Given the description of an element on the screen output the (x, y) to click on. 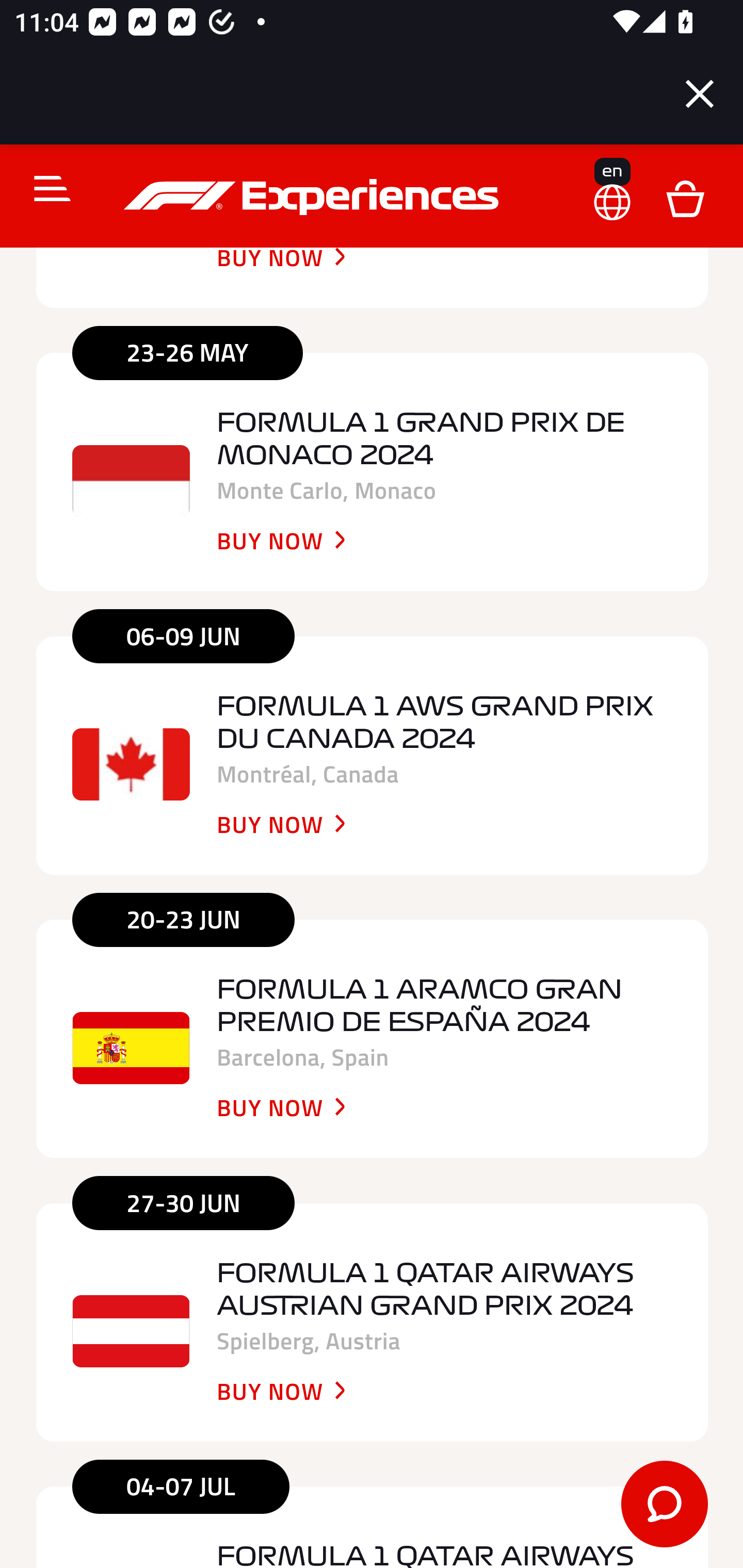
Close (699, 93)
Toggle navigation C (43, 189)
D (684, 198)
f1experiences (313, 197)
